Given the description of an element on the screen output the (x, y) to click on. 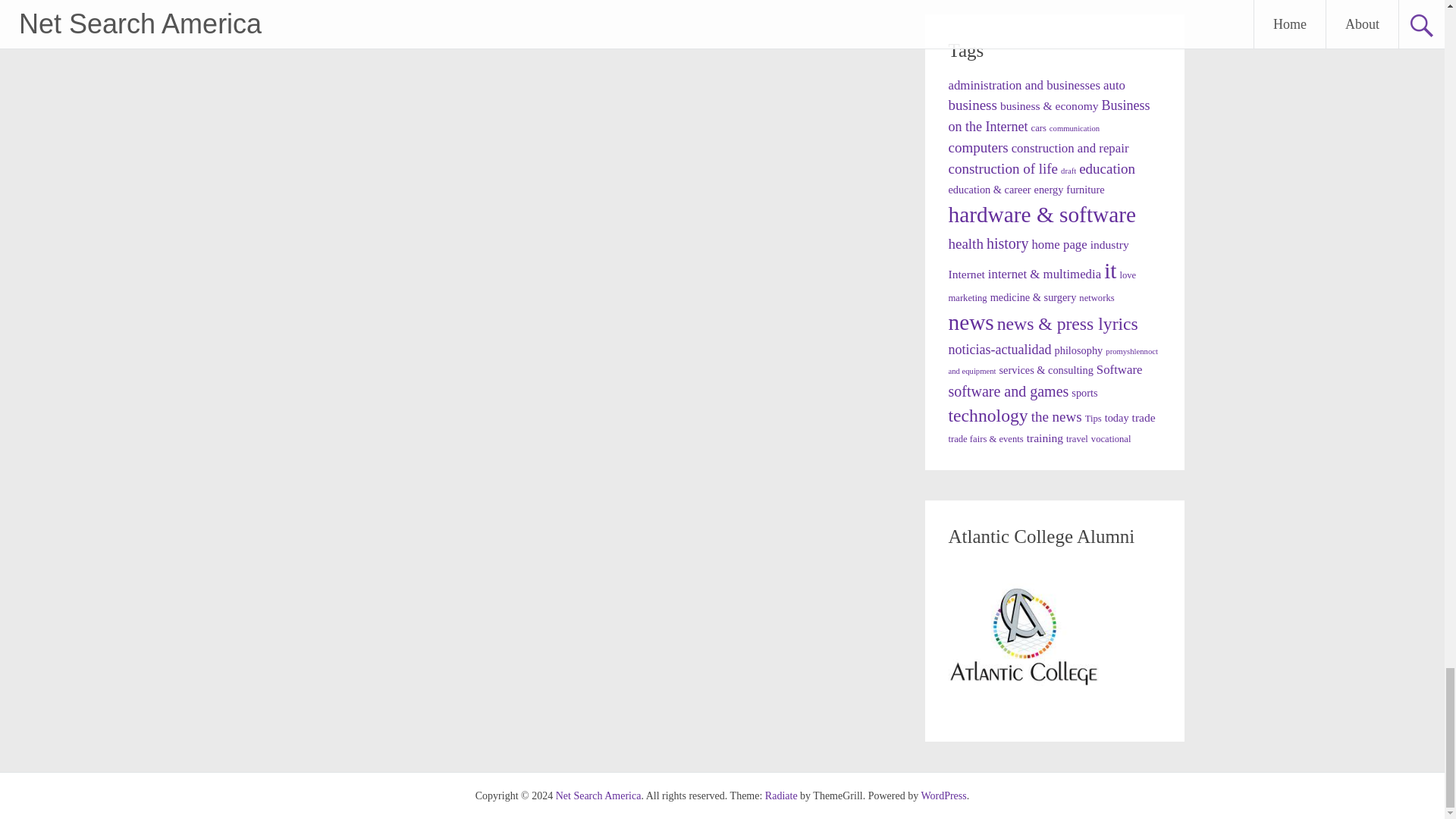
WordPress (943, 795)
Net Search America (599, 795)
Radiate (781, 795)
